Given the description of an element on the screen output the (x, y) to click on. 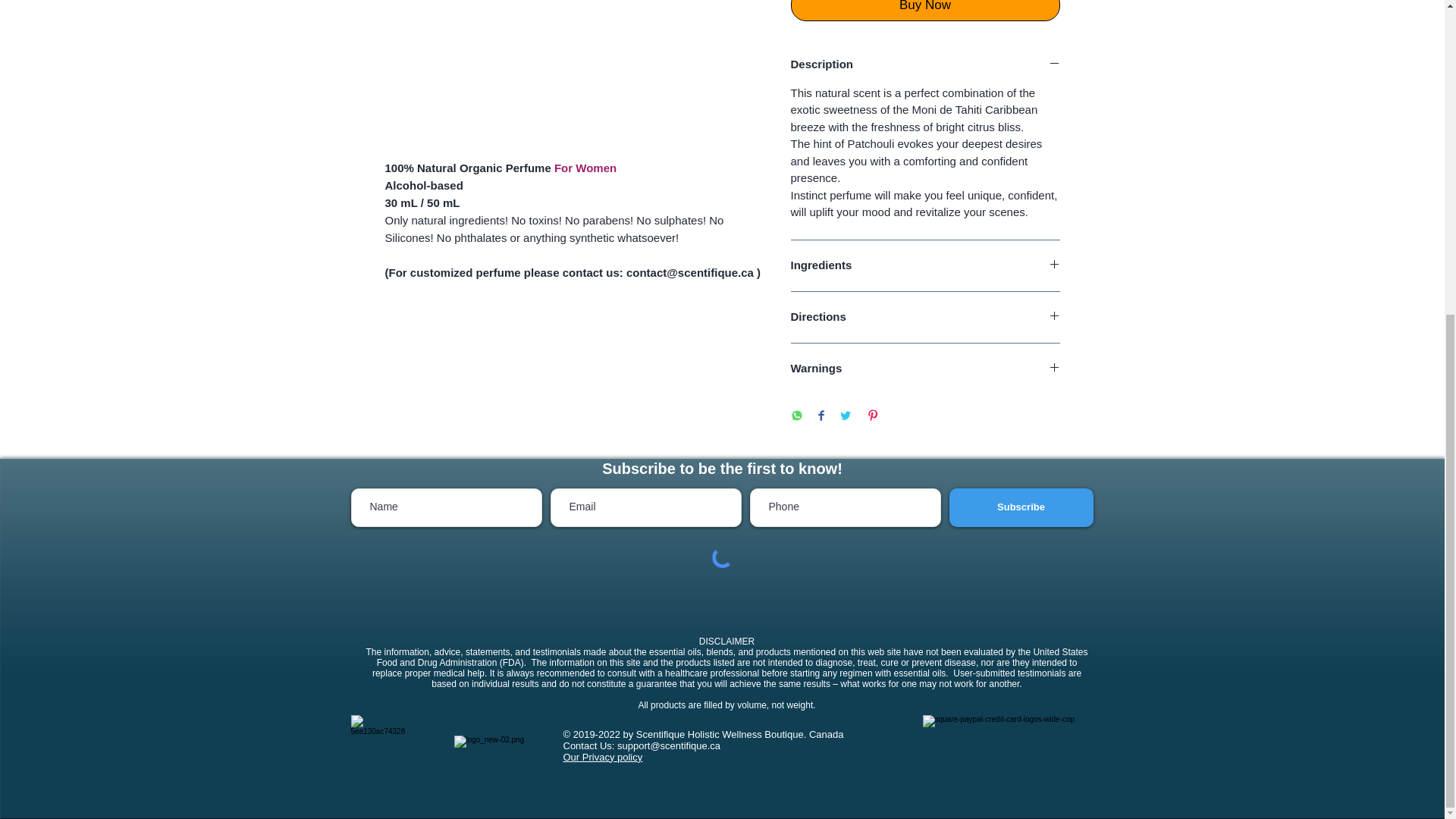
Description (924, 64)
Buy Now (924, 10)
